Given the description of an element on the screen output the (x, y) to click on. 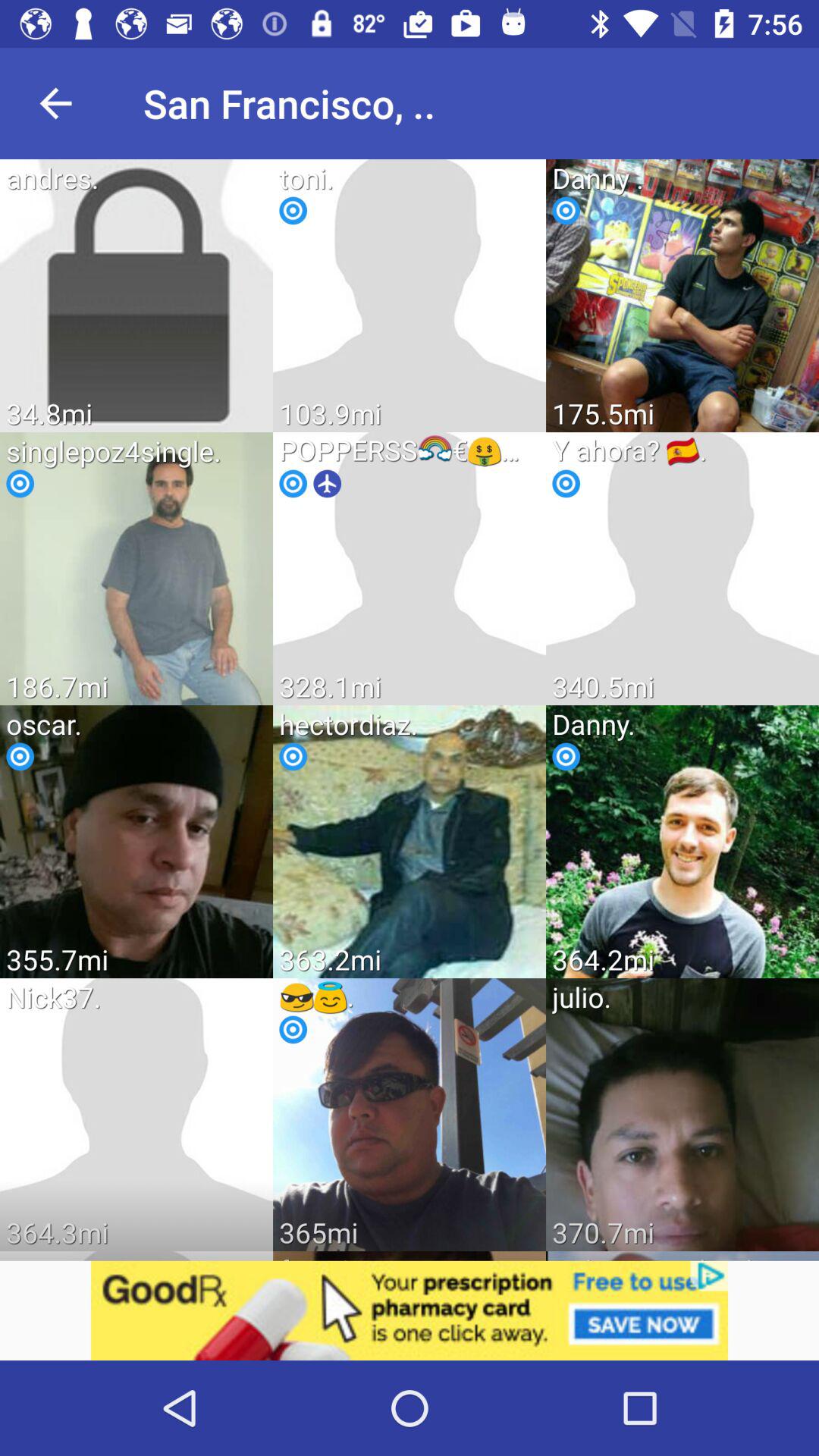
go to link on advertisement (409, 1310)
